Given the description of an element on the screen output the (x, y) to click on. 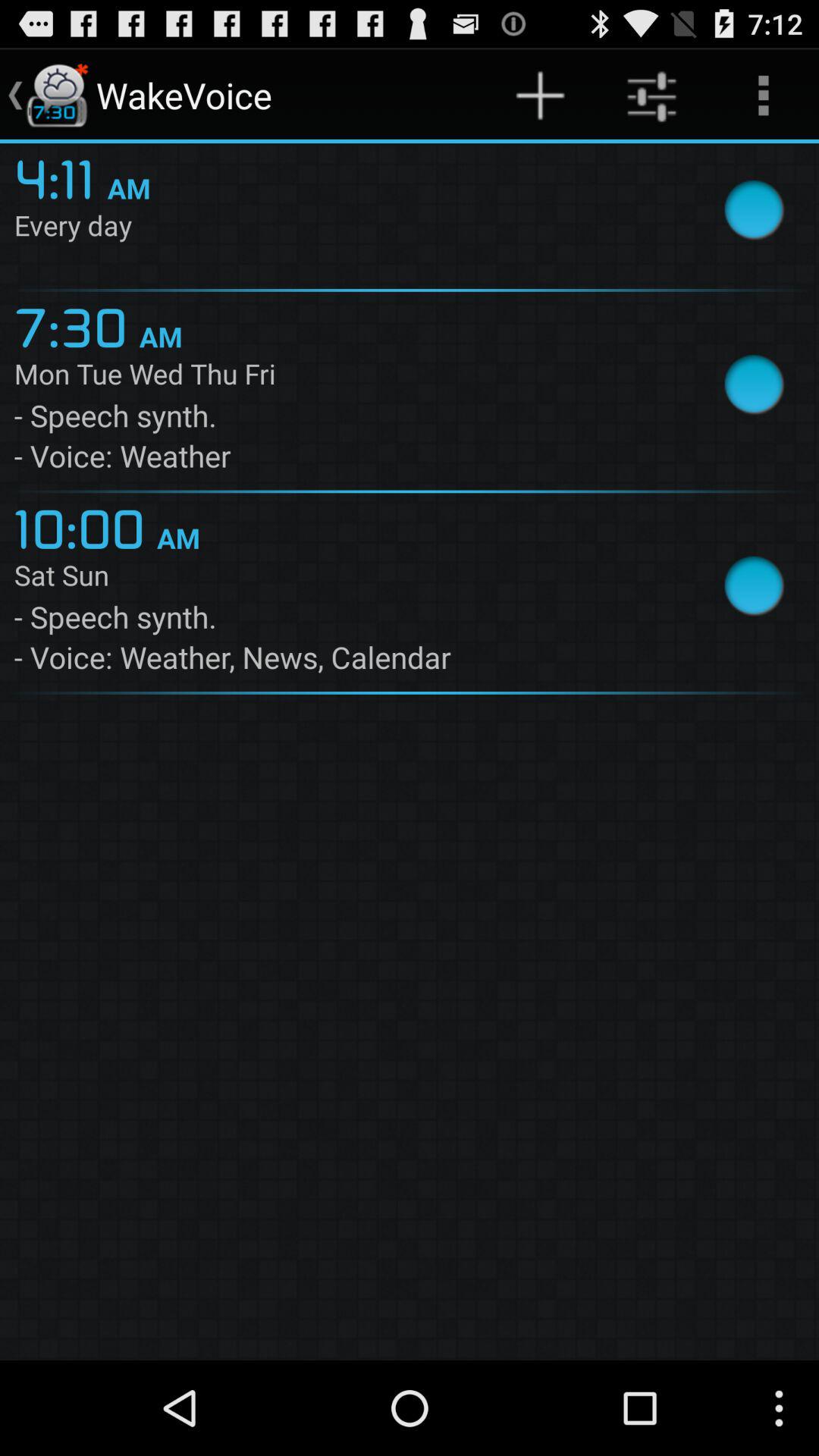
tap app below the 10:00 app (343, 578)
